Given the description of an element on the screen output the (x, y) to click on. 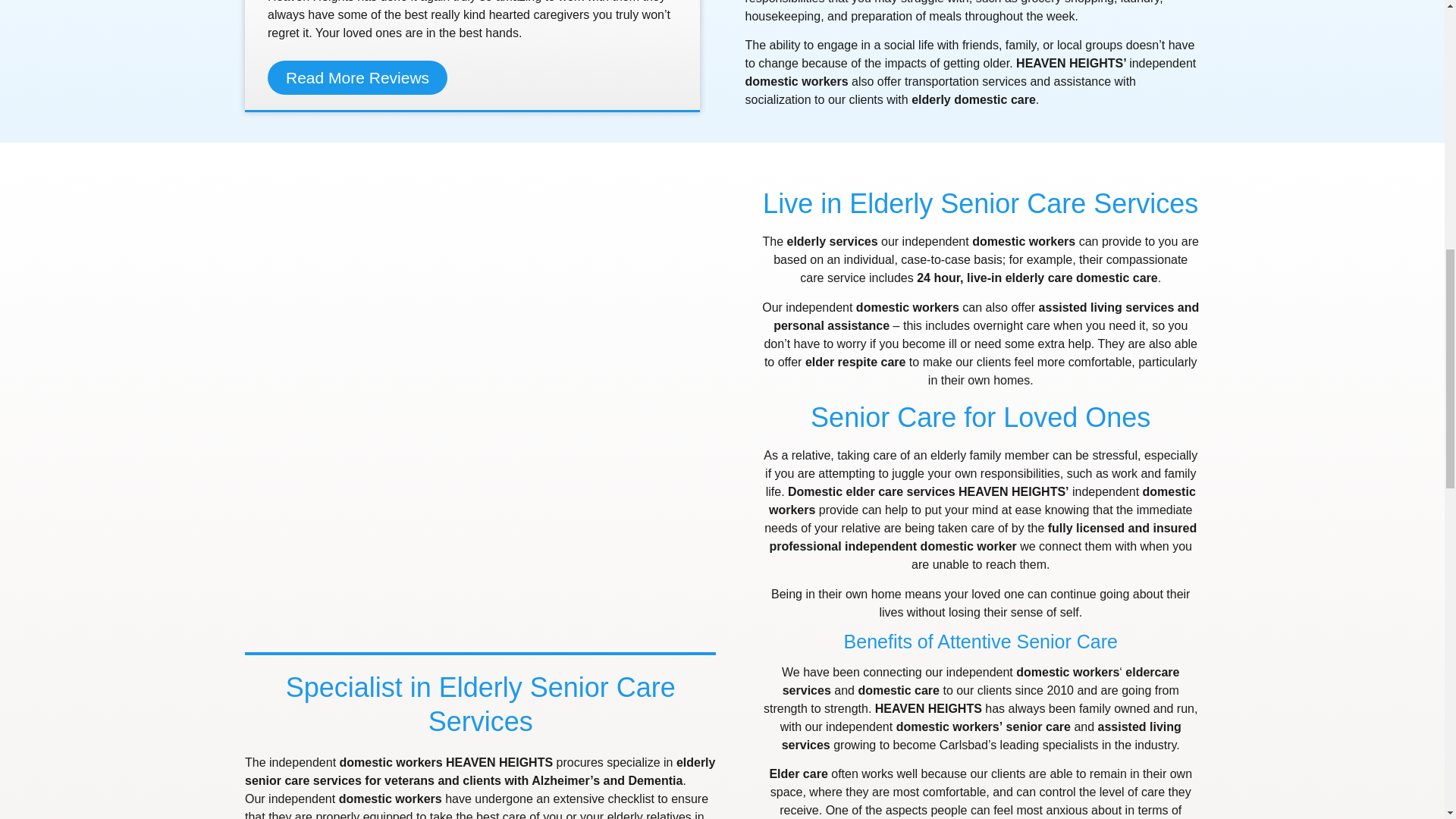
Read More Reviews (356, 77)
